Given the description of an element on the screen output the (x, y) to click on. 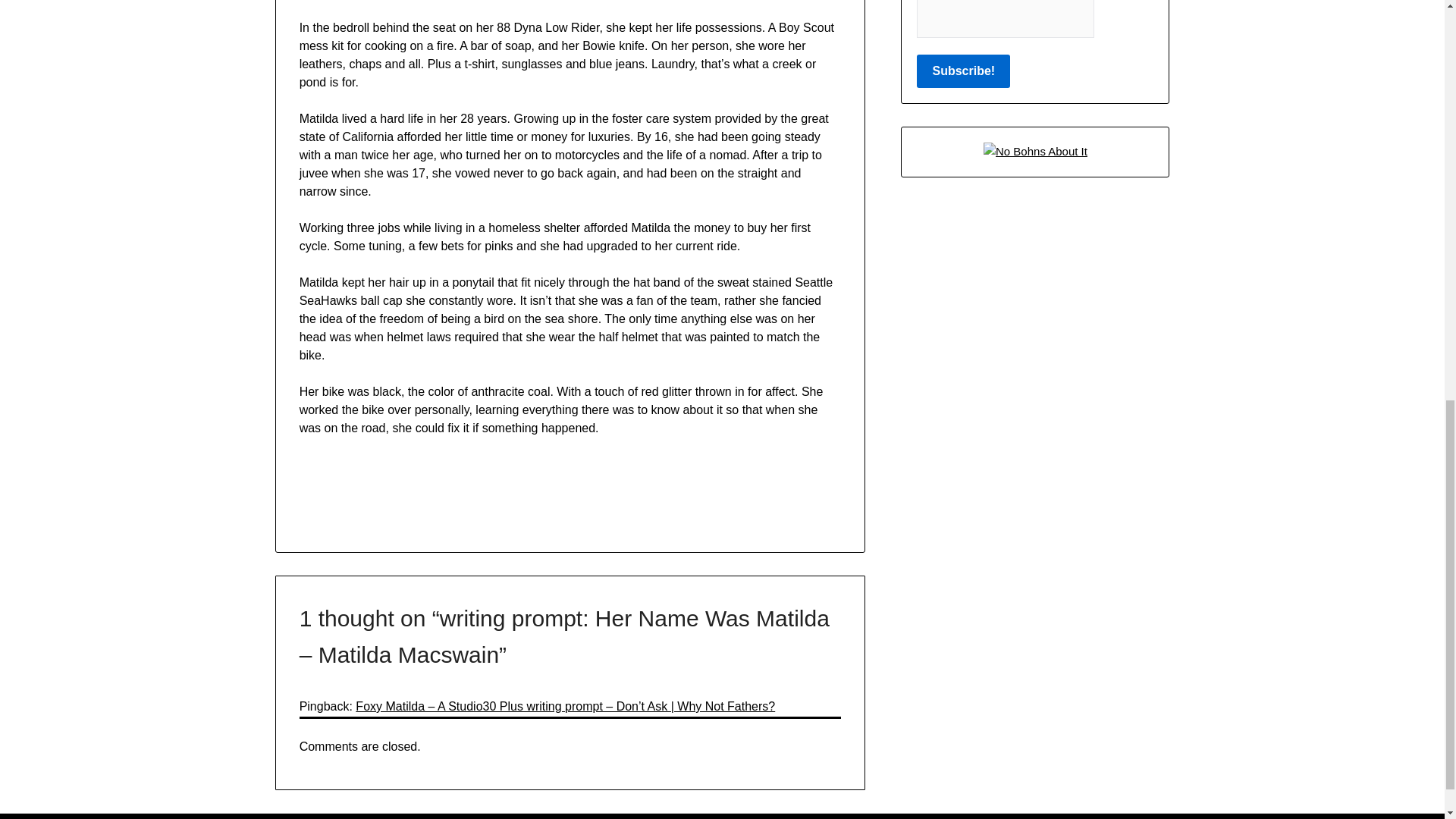
No Bohns About It (1035, 151)
Subscribe! (963, 70)
Email (1005, 18)
Subscribe! (963, 70)
